Given the description of an element on the screen output the (x, y) to click on. 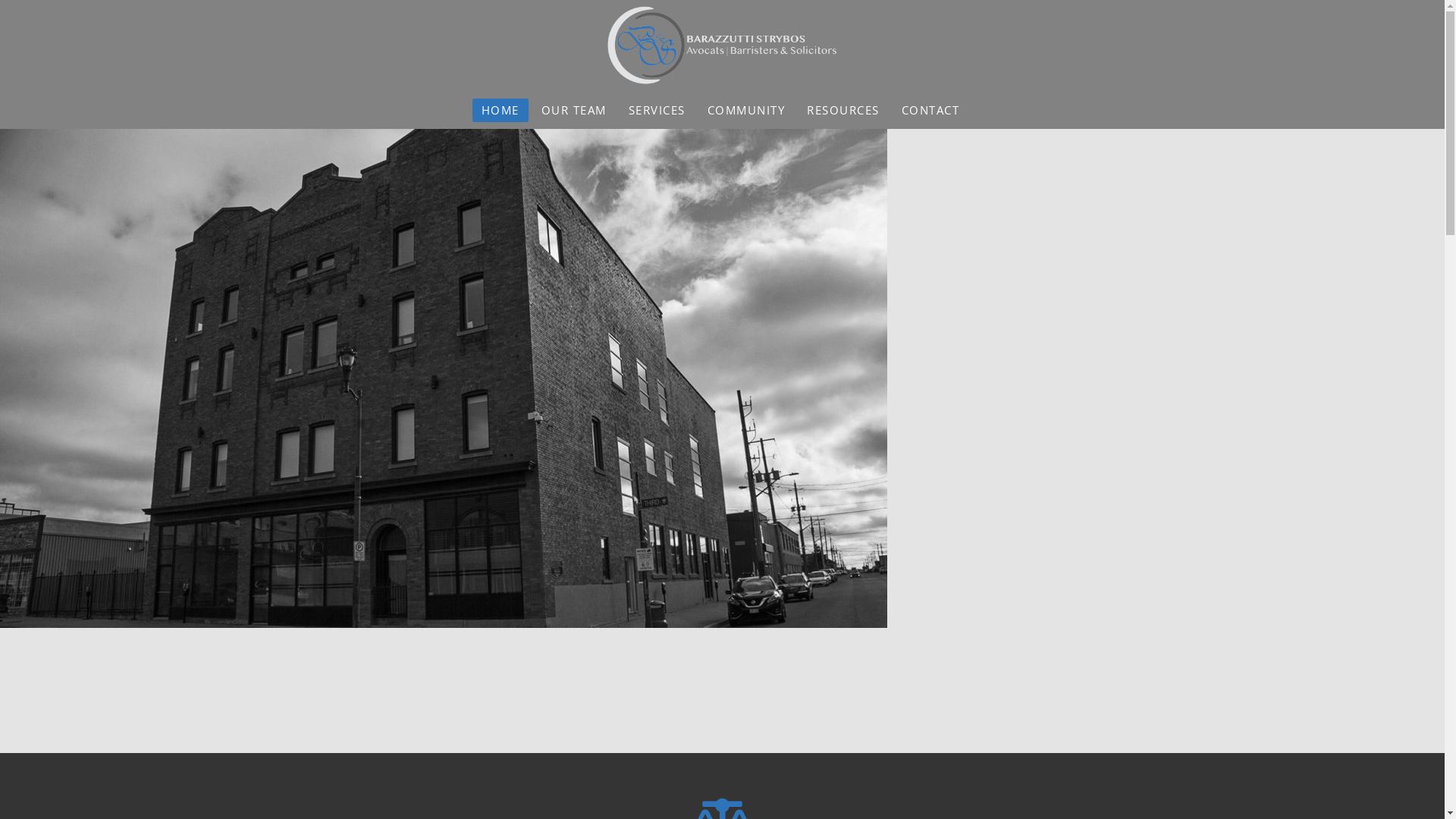
CONTACT Element type: text (930, 110)
SERVICES Element type: text (656, 110)
OUR TEAM Element type: text (573, 110)
HOME Element type: text (500, 110)
RESOURCES Element type: text (842, 110)
COMMUNITY Element type: text (746, 110)
Barazzutti Strybos Law Element type: hover (721, 45)
